Given the description of an element on the screen output the (x, y) to click on. 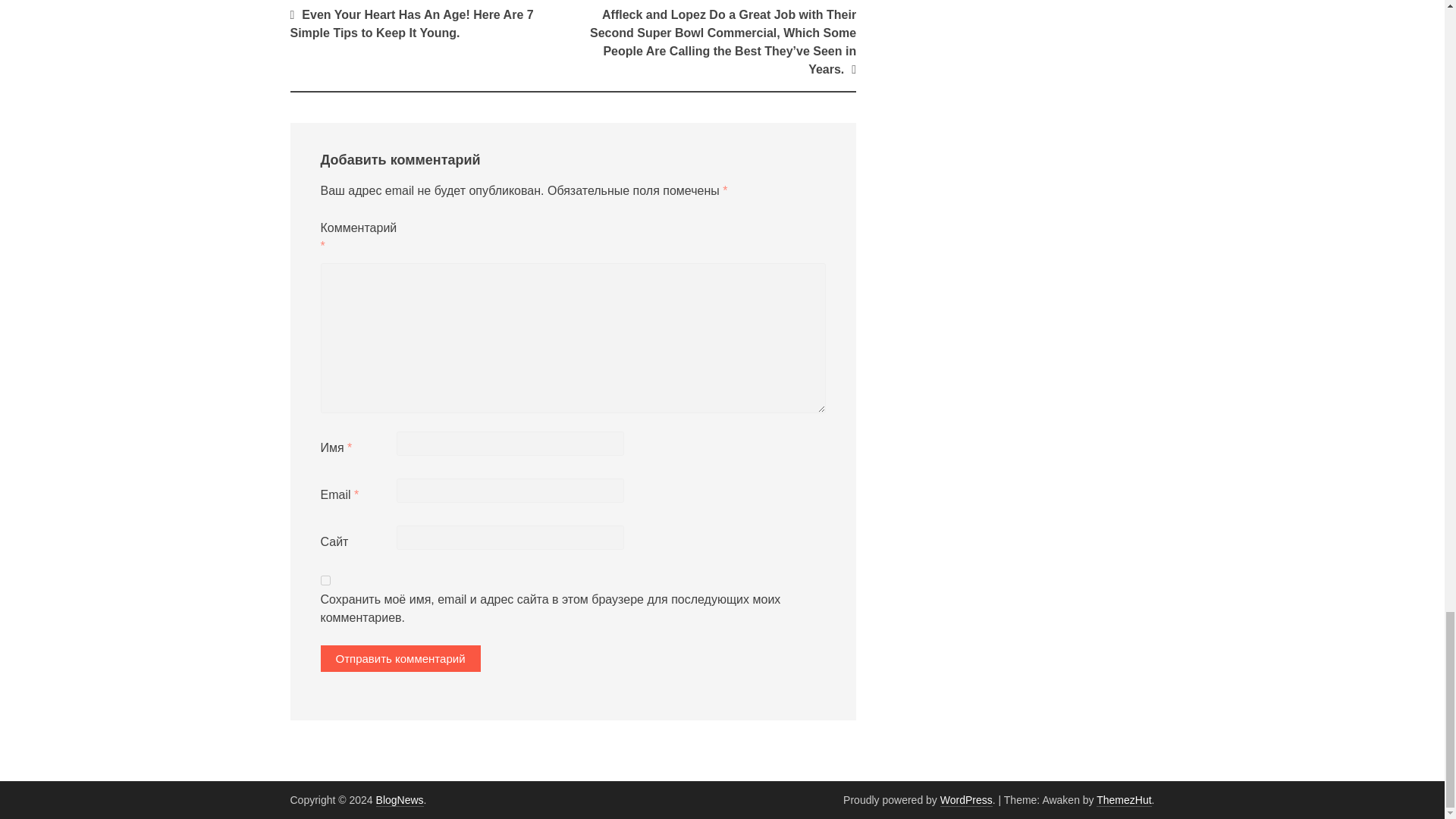
BlogNews (399, 799)
yes (325, 580)
BlogNews (399, 799)
WordPress (966, 799)
ThemezHut (1123, 799)
WordPress (966, 799)
